Given the description of an element on the screen output the (x, y) to click on. 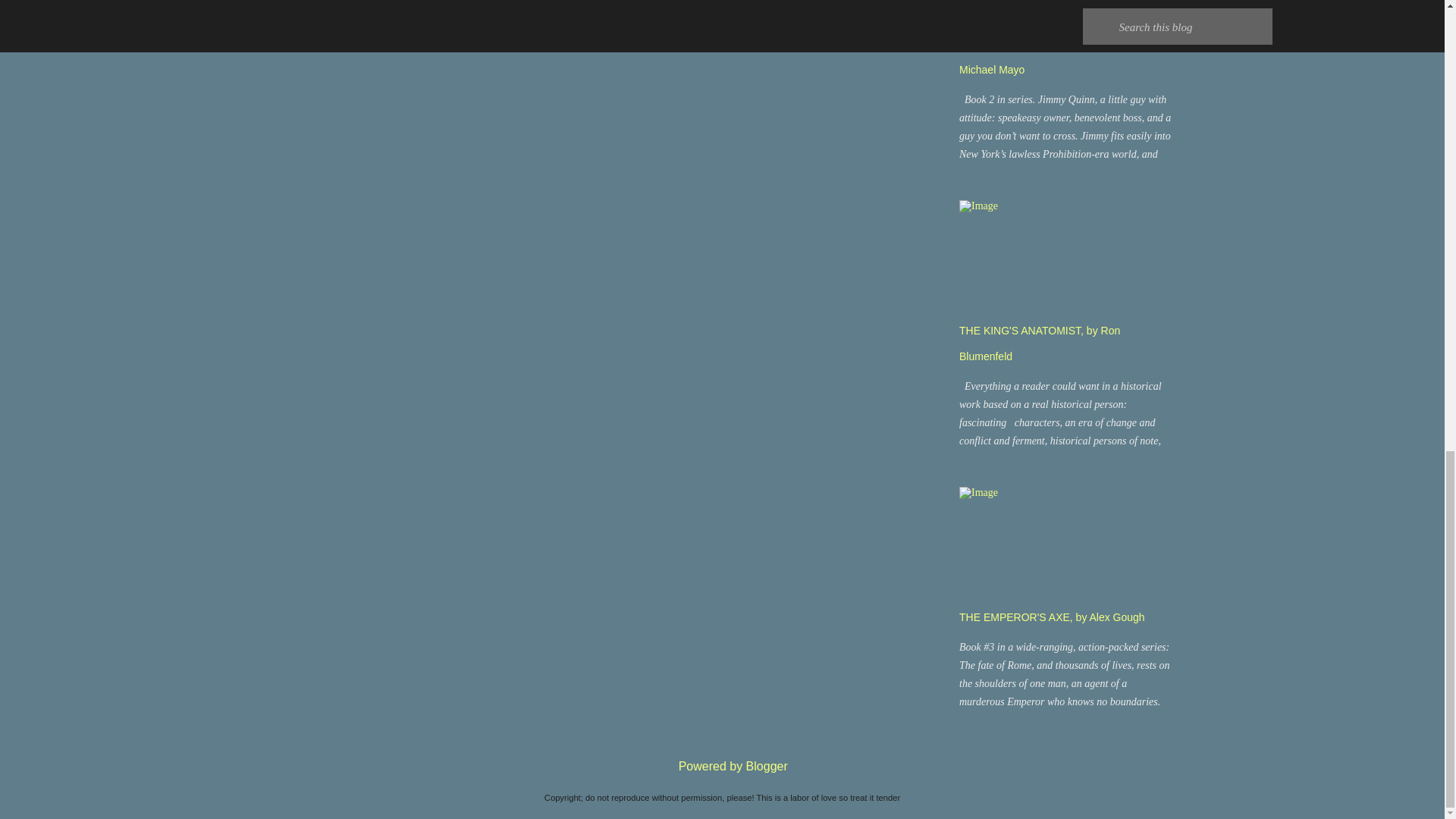
EVERYBODY GOES TO JIMMY'S by Michael Mayo (1047, 56)
THE EMPEROR'S AXE, by Alex Gough (1051, 616)
THE KING'S ANATOMIST, by Ron Blumenfeld (1039, 343)
